Given the description of an element on the screen output the (x, y) to click on. 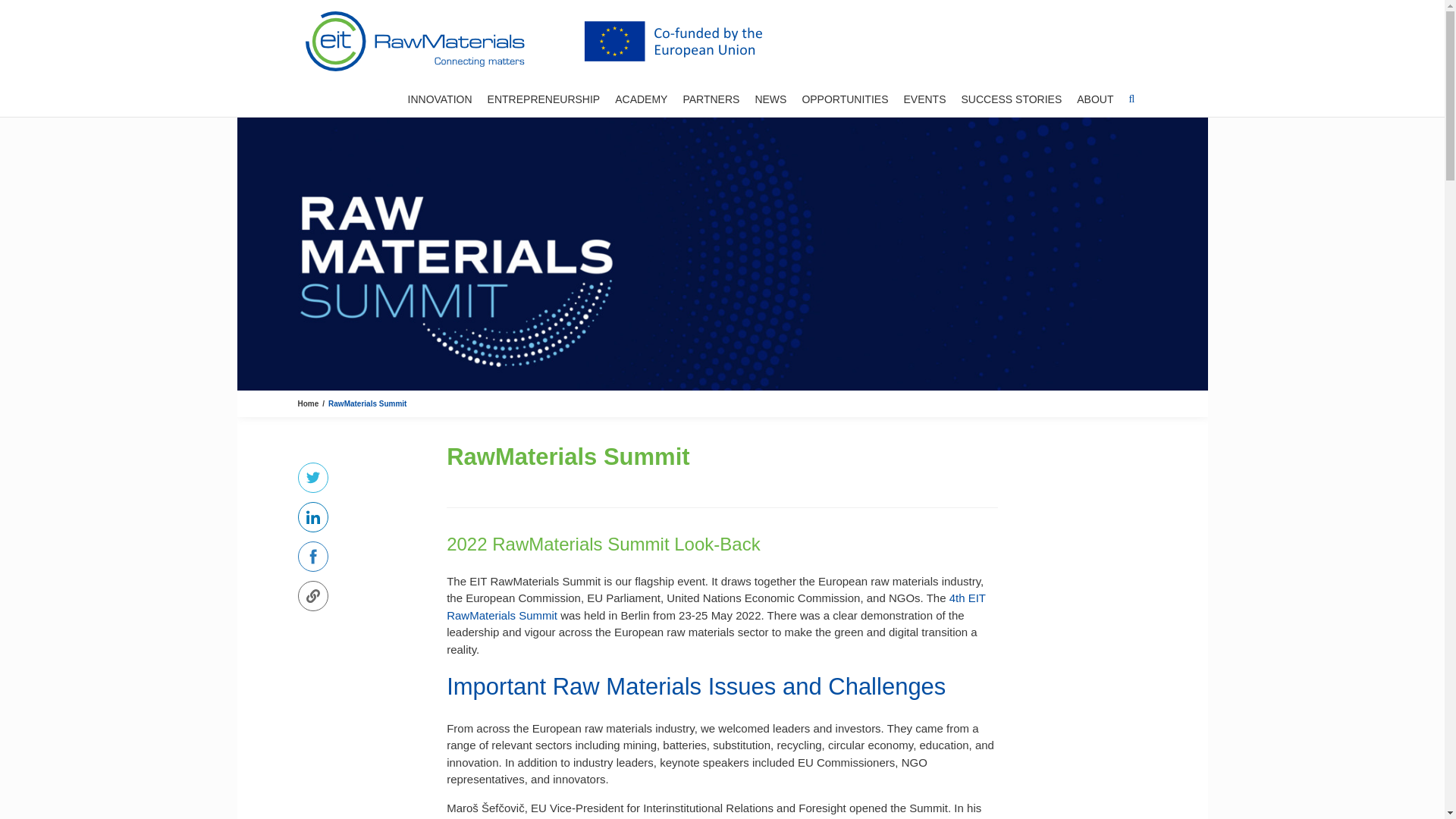
ENTREPRENEURSHIP (543, 97)
PARTNERS (710, 97)
Share on LinkedIn (312, 517)
ABOUT (1095, 97)
RawMaterials Academy (640, 97)
OPPORTUNITIES (845, 97)
Share on Facebook (312, 556)
About EIT RawMaterials (1095, 97)
ACADEMY (640, 97)
Copy Link (312, 595)
SUCCESS STORIES (1010, 97)
EVENTS (923, 97)
INNOVATION (439, 97)
Share on Twitter (312, 477)
